Given the description of an element on the screen output the (x, y) to click on. 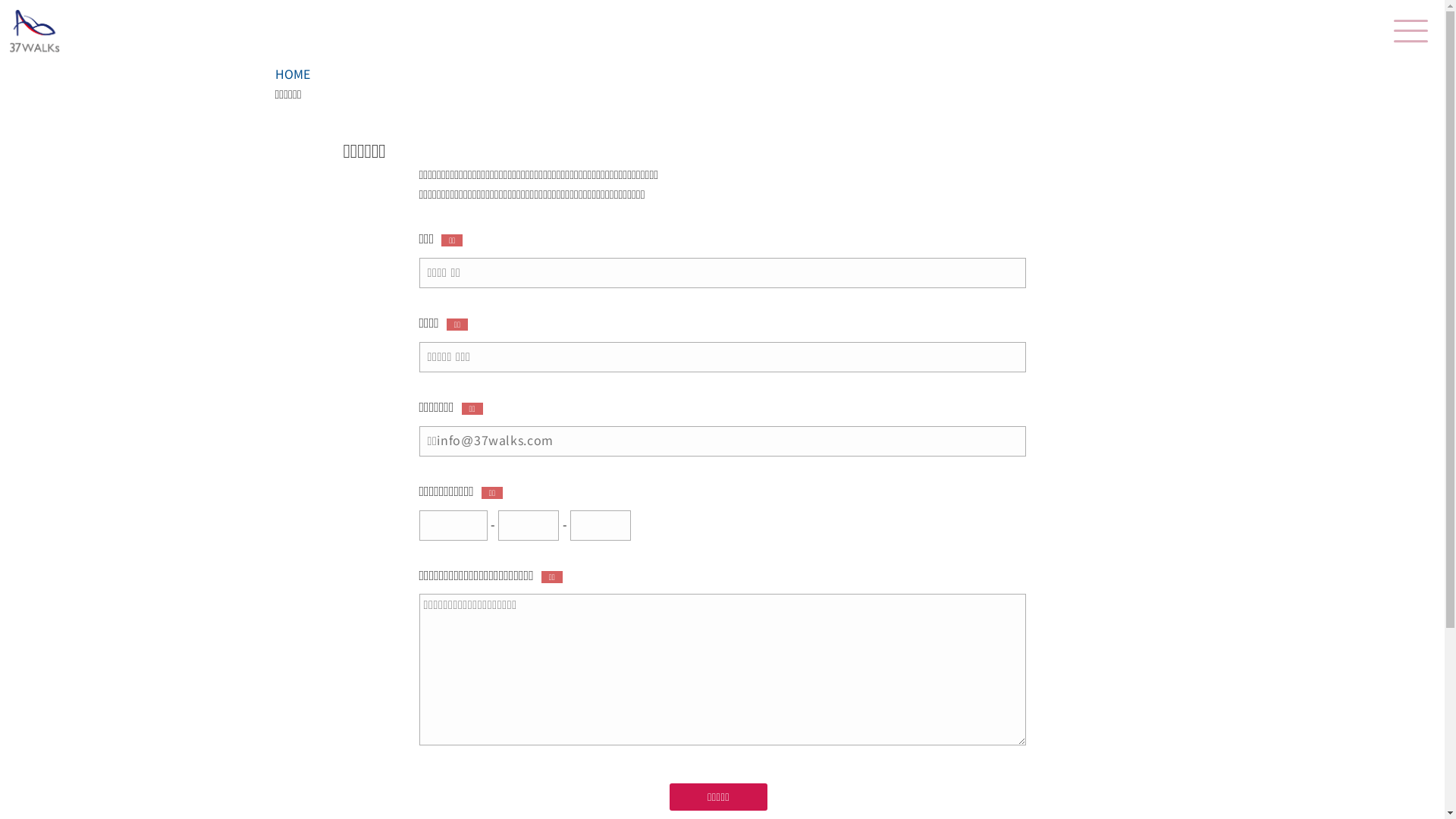
HOME Element type: text (291, 74)
